Given the description of an element on the screen output the (x, y) to click on. 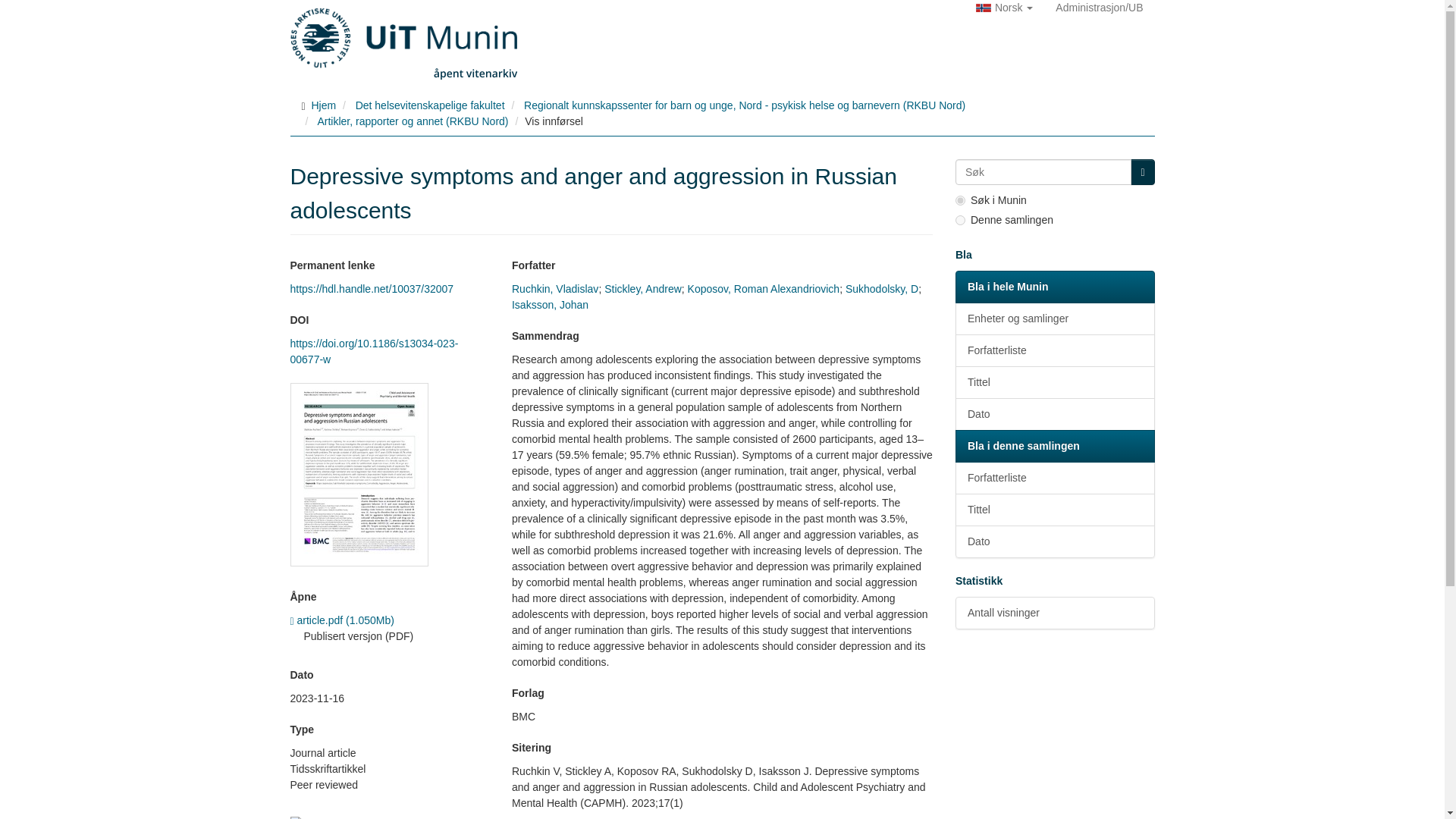
Hjem (323, 105)
Stickley, Andrew (642, 288)
Det helsevitenskapelige fakultet (430, 105)
Koposov, Roman Alexandriovich (763, 288)
Norsk  (1003, 7)
Tittel (1054, 382)
Enheter og samlinger (1054, 318)
Bla i hele Munin (1054, 287)
Isaksson, Johan (550, 304)
Forfatterliste (1054, 350)
Sukhodolsky, D (881, 288)
Ruchkin, Vladislav (555, 288)
